Given the description of an element on the screen output the (x, y) to click on. 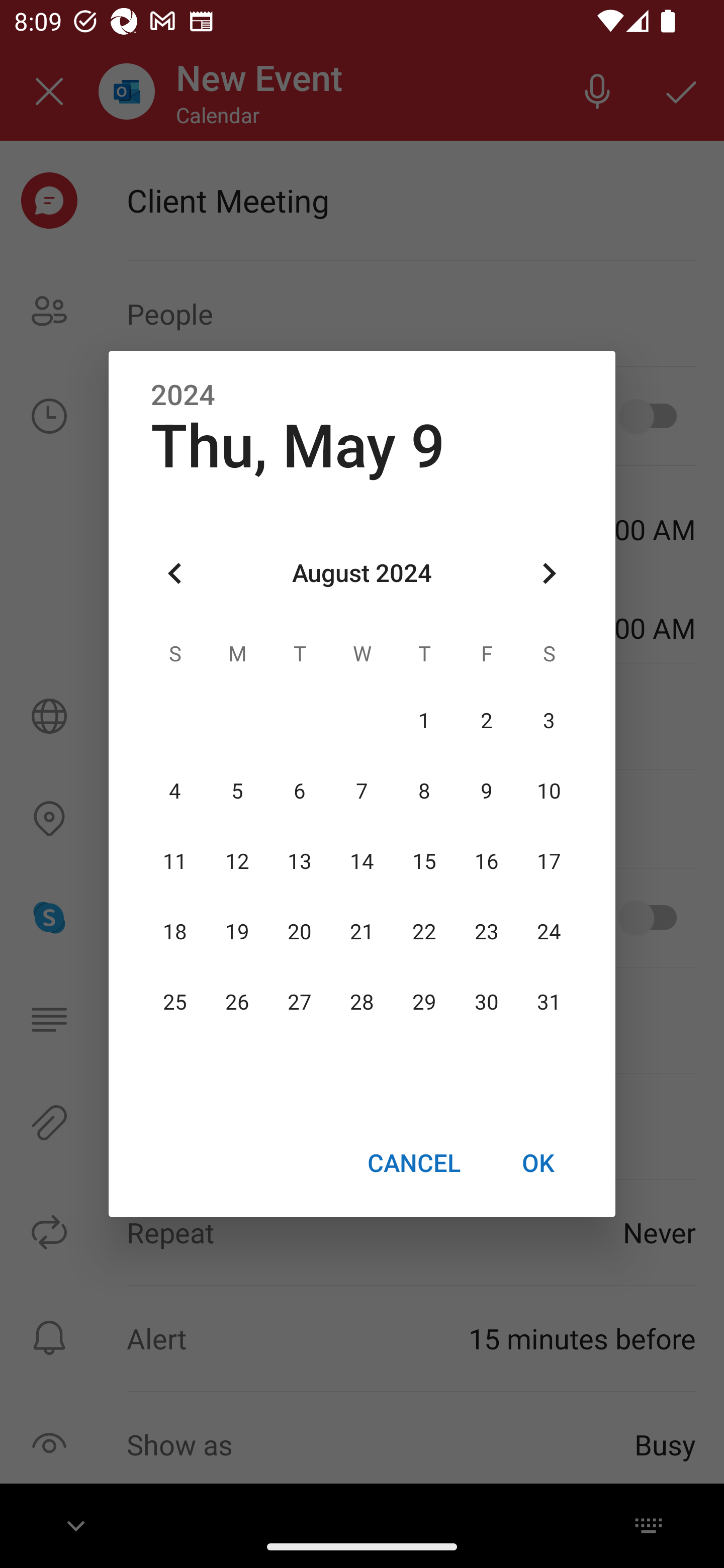
2024 (182, 395)
Thu, May 9 (297, 446)
Previous month (174, 573)
Next month (548, 573)
1 01 August 2024 (424, 720)
2 02 August 2024 (486, 720)
3 03 August 2024 (548, 720)
4 04 August 2024 (175, 790)
5 05 August 2024 (237, 790)
6 06 August 2024 (299, 790)
7 07 August 2024 (361, 790)
8 08 August 2024 (424, 790)
9 09 August 2024 (486, 790)
10 10 August 2024 (548, 790)
11 11 August 2024 (175, 861)
12 12 August 2024 (237, 861)
13 13 August 2024 (299, 861)
14 14 August 2024 (361, 861)
15 15 August 2024 (424, 861)
16 16 August 2024 (486, 861)
17 17 August 2024 (548, 861)
18 18 August 2024 (175, 931)
19 19 August 2024 (237, 931)
20 20 August 2024 (299, 931)
21 21 August 2024 (361, 931)
22 22 August 2024 (424, 931)
23 23 August 2024 (486, 931)
24 24 August 2024 (548, 931)
25 25 August 2024 (175, 1002)
26 26 August 2024 (237, 1002)
27 27 August 2024 (299, 1002)
28 28 August 2024 (361, 1002)
29 29 August 2024 (424, 1002)
30 30 August 2024 (486, 1002)
31 31 August 2024 (548, 1002)
CANCEL (413, 1162)
OK (537, 1162)
